Given the description of an element on the screen output the (x, y) to click on. 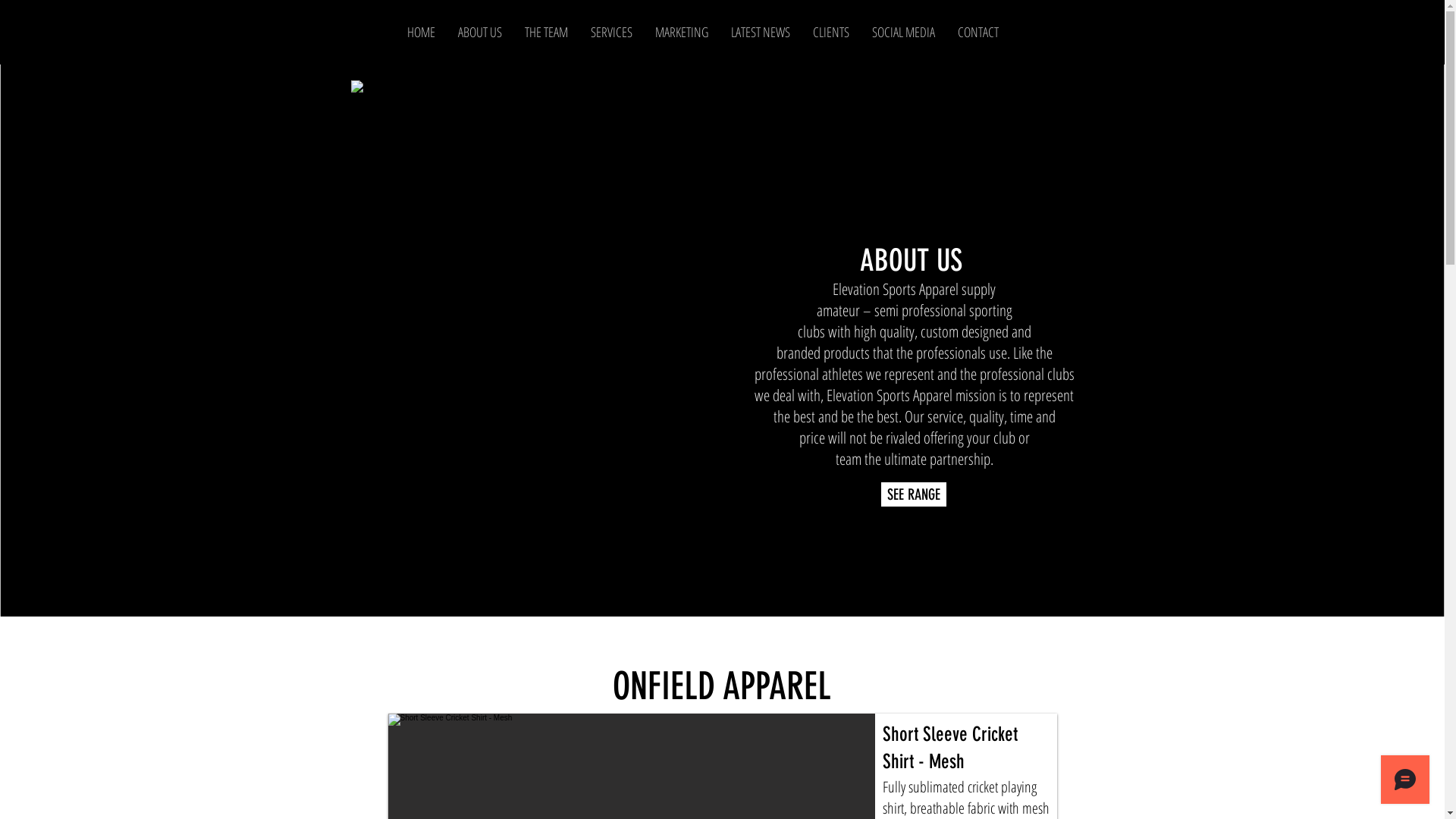
THE TEAM Element type: text (545, 31)
HOME Element type: text (420, 31)
SERVICES Element type: text (611, 31)
MARKETING Element type: text (680, 31)
SEE RANGE Element type: text (913, 494)
CONTACT Element type: text (978, 31)
SOCIAL MEDIA Element type: text (902, 31)
CLIENTS Element type: text (829, 31)
LATEST NEWS Element type: text (759, 31)
ABOUT US Element type: text (478, 31)
